Given the description of an element on the screen output the (x, y) to click on. 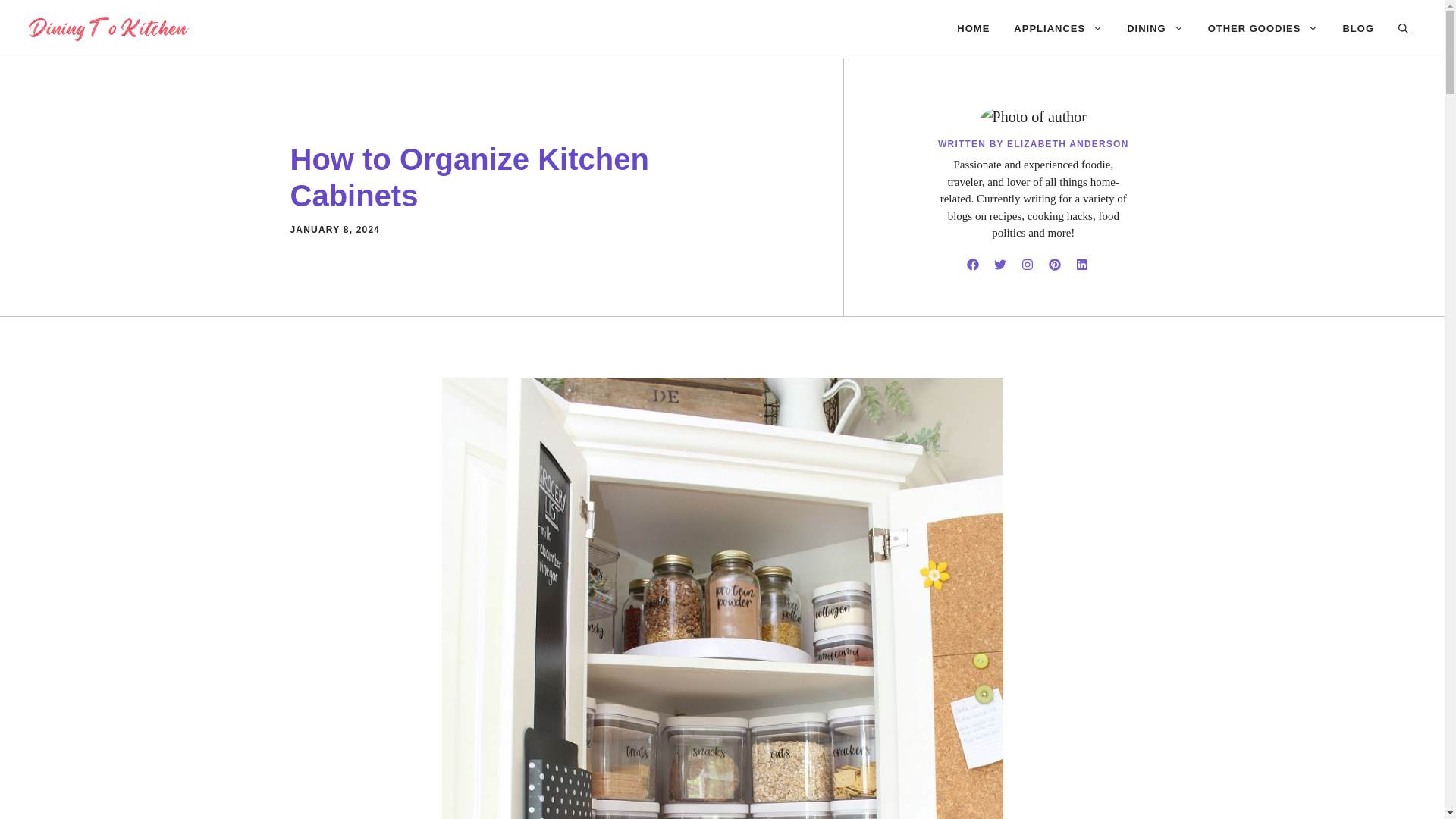
APPLIANCES (1058, 28)
OTHER GOODIES (1262, 28)
BLOG (1358, 28)
DINING (1155, 28)
HOME (972, 28)
